Given the description of an element on the screen output the (x, y) to click on. 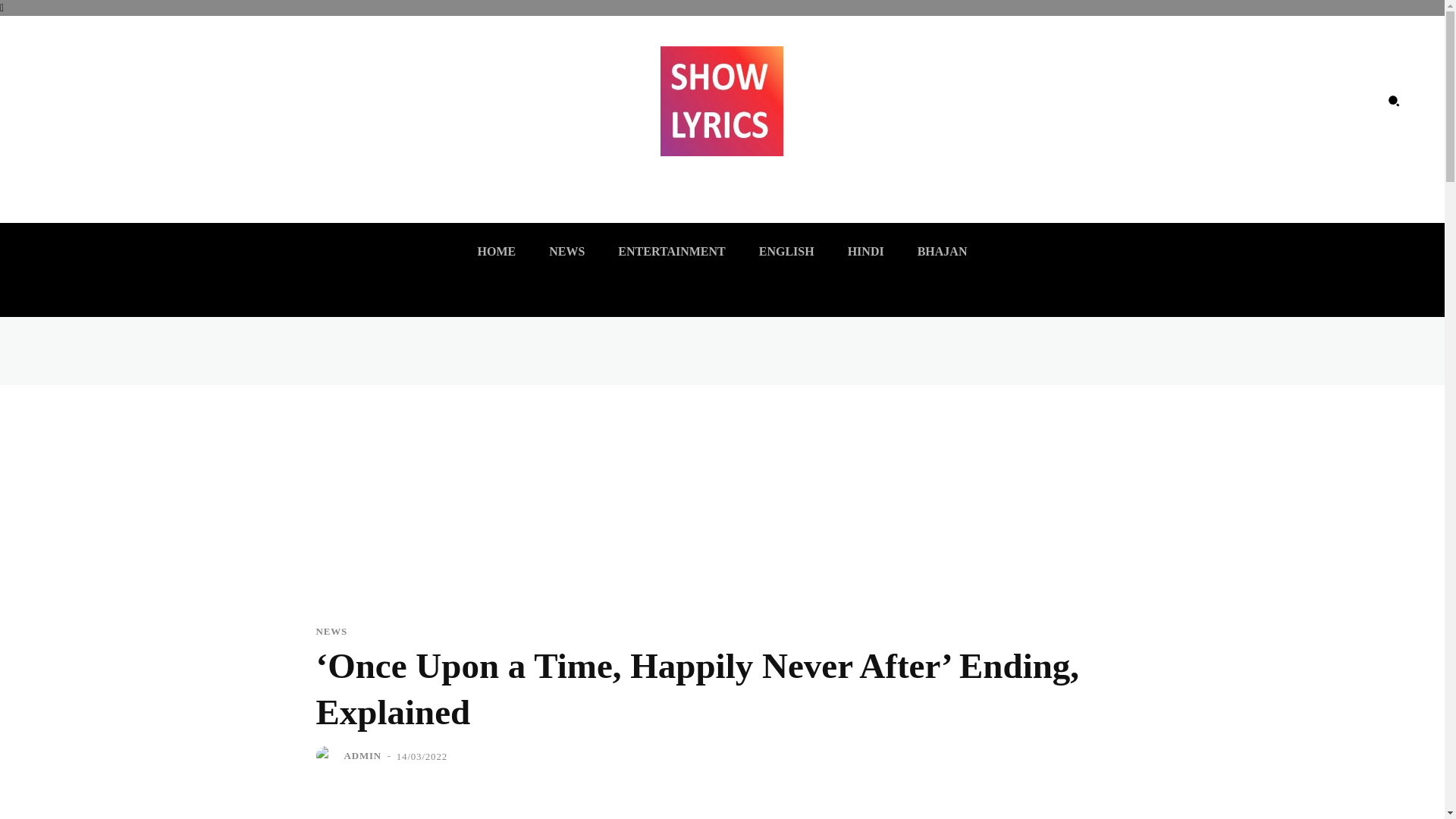
admin (327, 755)
ENGLISH (786, 251)
ENTERTAINMENT (671, 251)
BHAJAN (942, 251)
ADMIN (362, 755)
NEWS (566, 251)
NEWS (331, 631)
HINDI (866, 251)
HOME (497, 251)
